Given the description of an element on the screen output the (x, y) to click on. 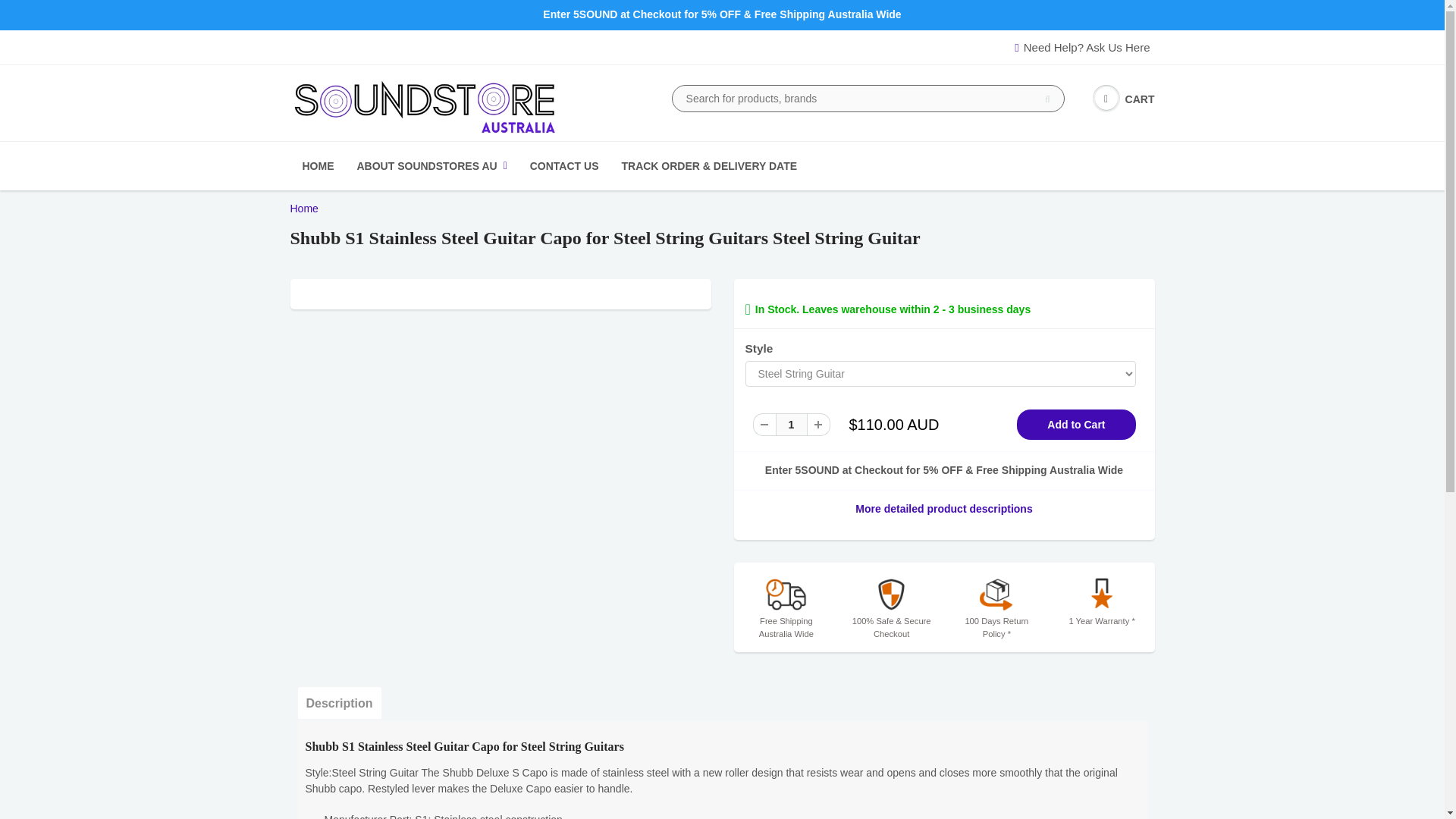
More detailed product descriptions (943, 508)
1 (790, 424)
Add to Cart (1075, 424)
ABOUT SOUNDSTORES AU (432, 165)
HOME (318, 165)
CART (1124, 99)
Home (303, 208)
CONTACT US (564, 165)
Home (303, 208)
Need Help? Ask Us Here (1084, 47)
Add to Cart (1075, 424)
Description (338, 703)
